Given the description of an element on the screen output the (x, y) to click on. 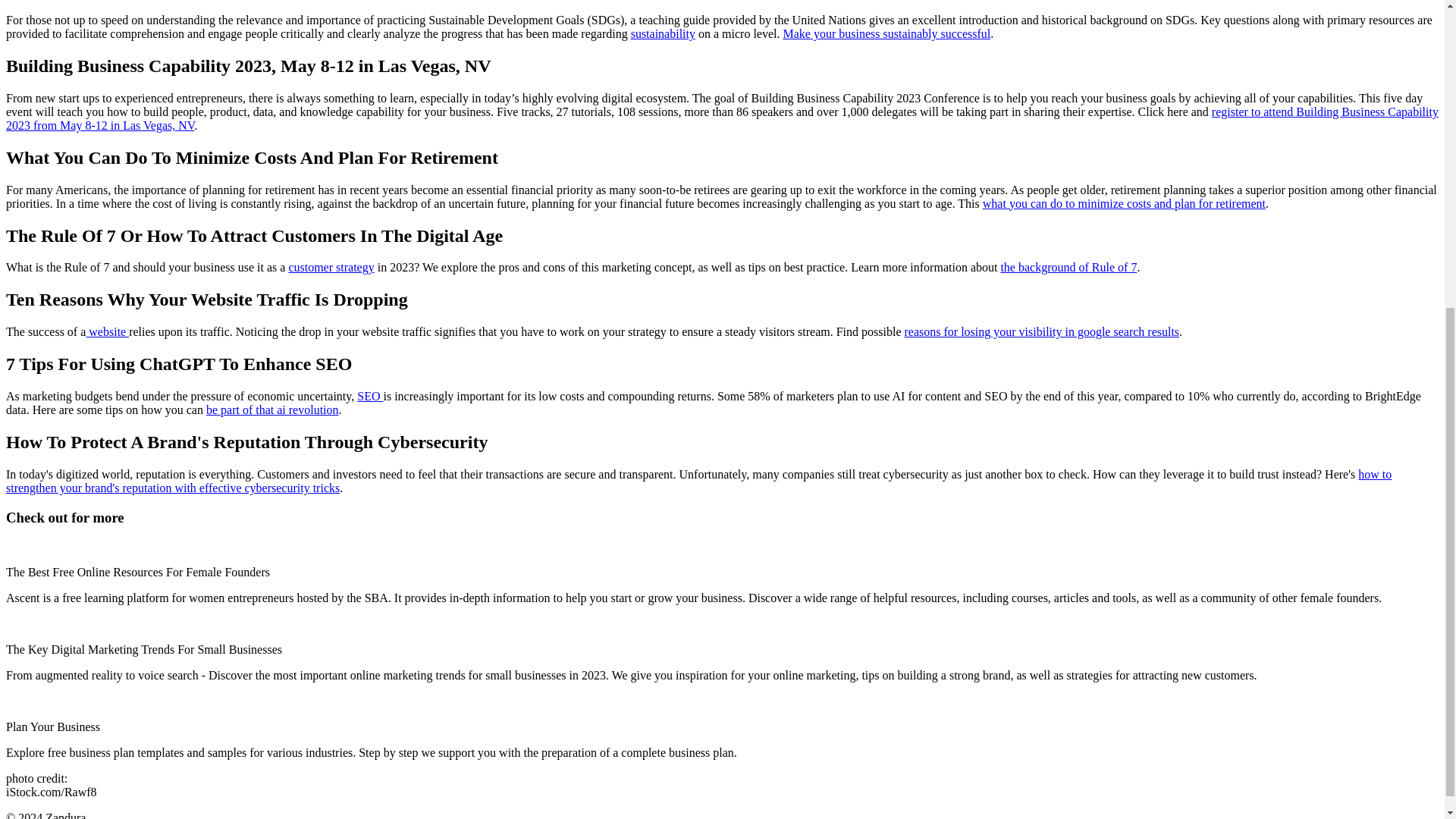
 How to generate new customers for your business (331, 267)
Make your business sustainably successful (886, 33)
Chat GPT Practical Guide on insiderintelligence.com (272, 409)
Tips for your retirement planning on entrepreneur.com (1123, 203)
Online marketing tips for SME (107, 331)
SEO (369, 395)
SDG Teaching Guide on womenentrepreneursgrowglobal.org (886, 33)
reasons for losing your visibility in google search results (1041, 331)
the background of Rule of 7 (1068, 267)
Tips to improve cybersecurity on entrepreneur.com (698, 480)
what you can do to minimize costs and plan for retirement (1123, 203)
Strategies for your sustainable growth  (662, 33)
Rule of 7 explained on startups.co.uk (1068, 267)
customer strategy (331, 267)
